Given the description of an element on the screen output the (x, y) to click on. 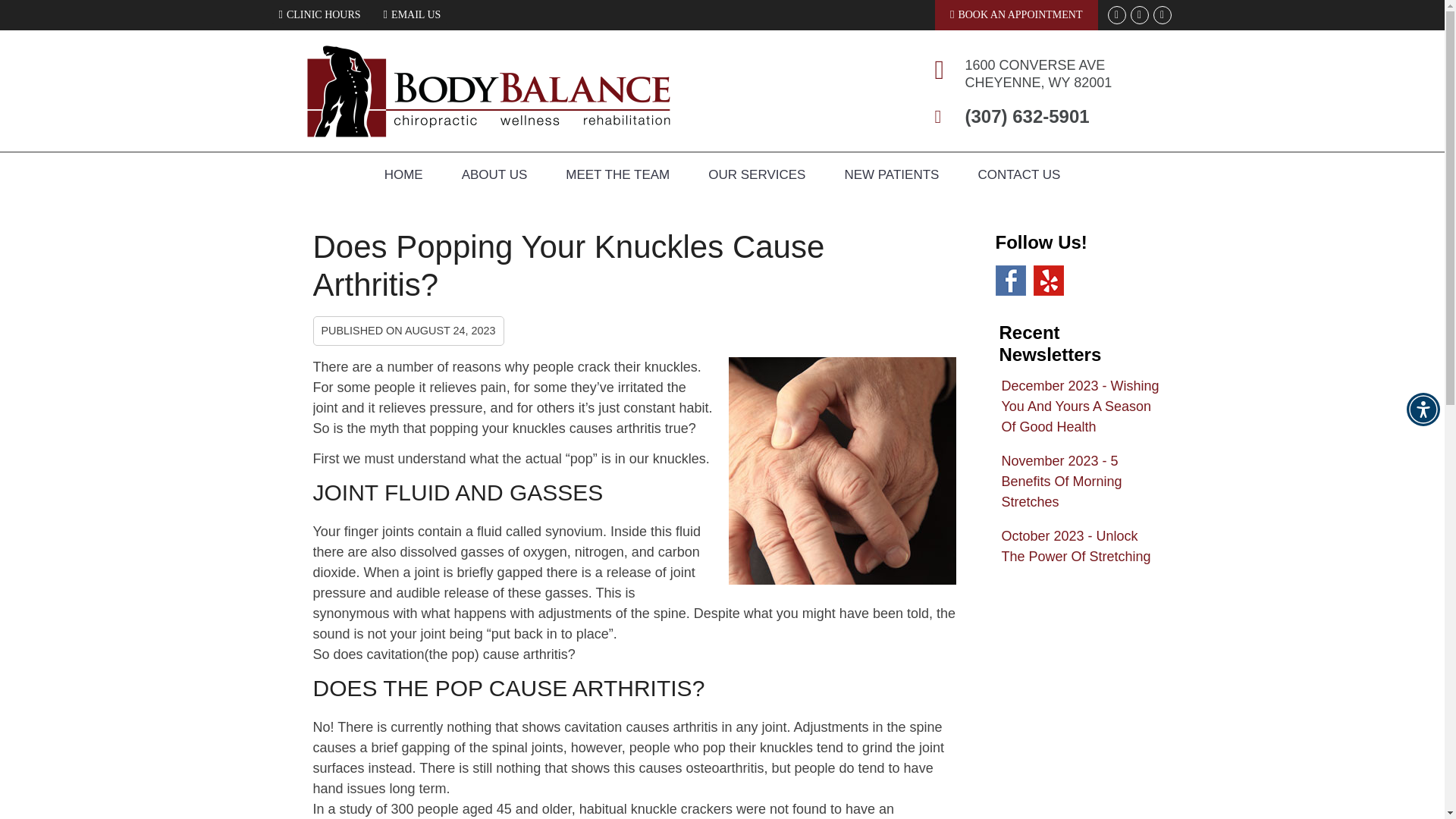
OUR SERVICES (756, 175)
Accessibility Menu (1422, 409)
Welcome to BodyBalance (488, 132)
Yelp Social Button (1161, 14)
CLINIC HOURS (319, 14)
HOME (403, 175)
BOOK AN APPOINTMENT (1015, 15)
Contact (411, 14)
ABOUT US (494, 175)
EMAIL US (411, 14)
NEW PATIENTS (891, 175)
BodyBalance (488, 132)
Google Social Button (1115, 14)
Facebook Social Button (1138, 14)
MEET THE TEAM (617, 175)
